Given the description of an element on the screen output the (x, y) to click on. 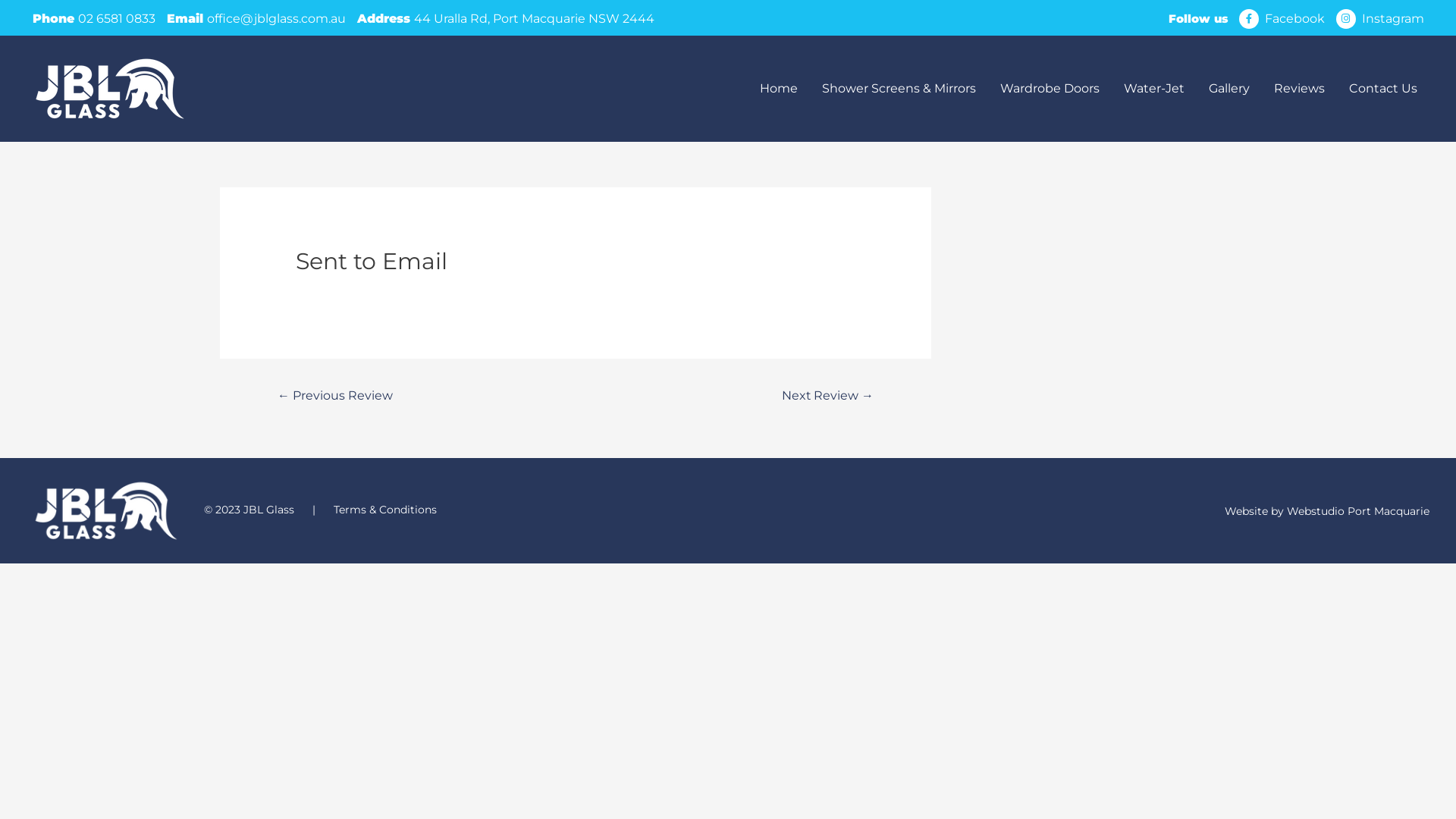
Wardrobe Doors Element type: text (1049, 88)
Phone 02 6581 0833 Element type: text (92, 18)
Facebook Element type: text (1294, 18)
Terms & Conditions Element type: text (384, 509)
Email office@jblglass.com.au Element type: text (255, 18)
Shower Screens & Mirrors Element type: text (898, 88)
Gallery Element type: text (1228, 88)
Instagram Element type: text (1392, 18)
Contact Us Element type: text (1382, 88)
Webstudio Port Macquarie Element type: text (1357, 510)
Reviews Element type: text (1298, 88)
Home Element type: text (778, 88)
Water-Jet Element type: text (1153, 88)
